Given the description of an element on the screen output the (x, y) to click on. 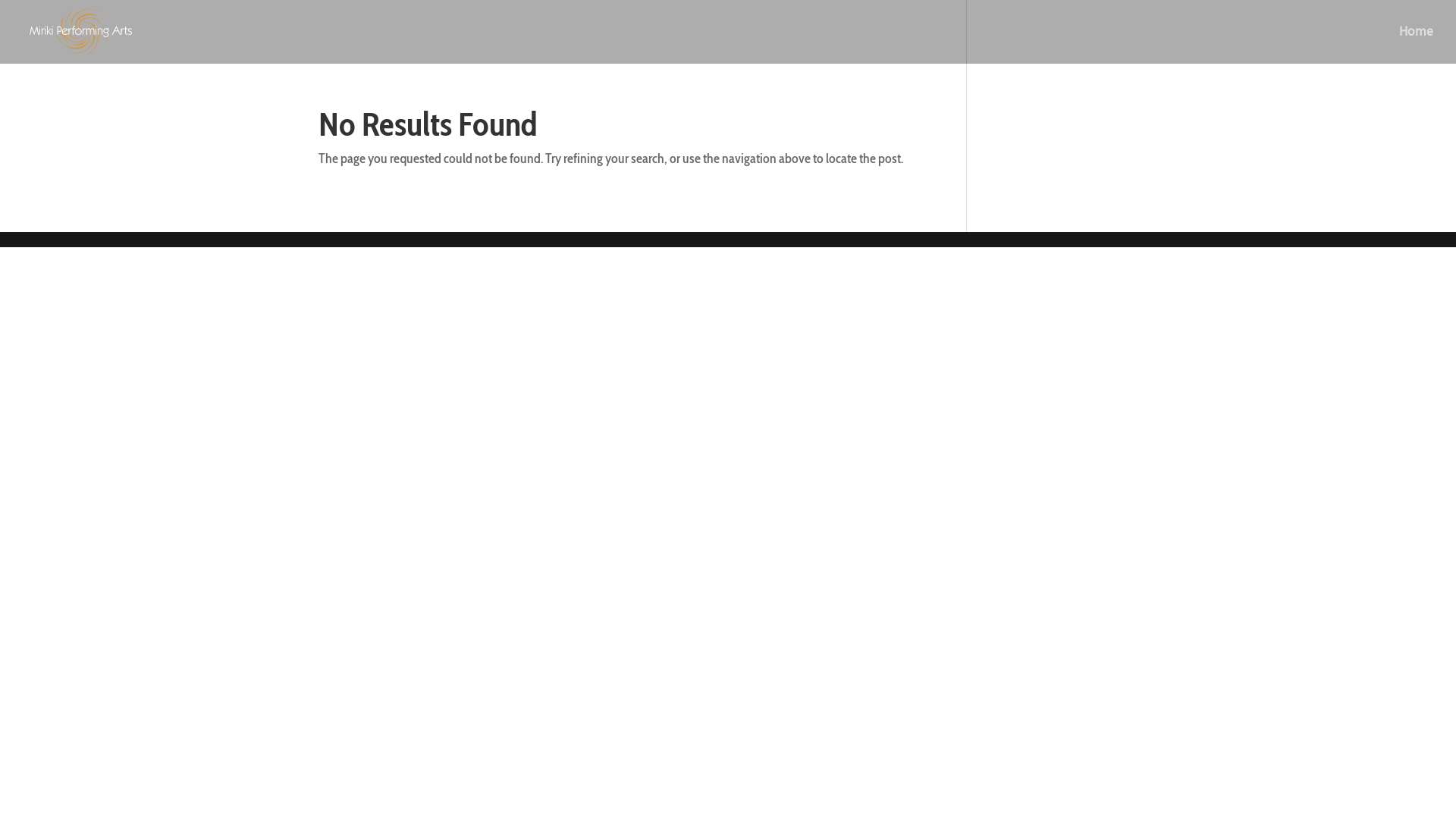
Home Element type: text (1416, 44)
